Given the description of an element on the screen output the (x, y) to click on. 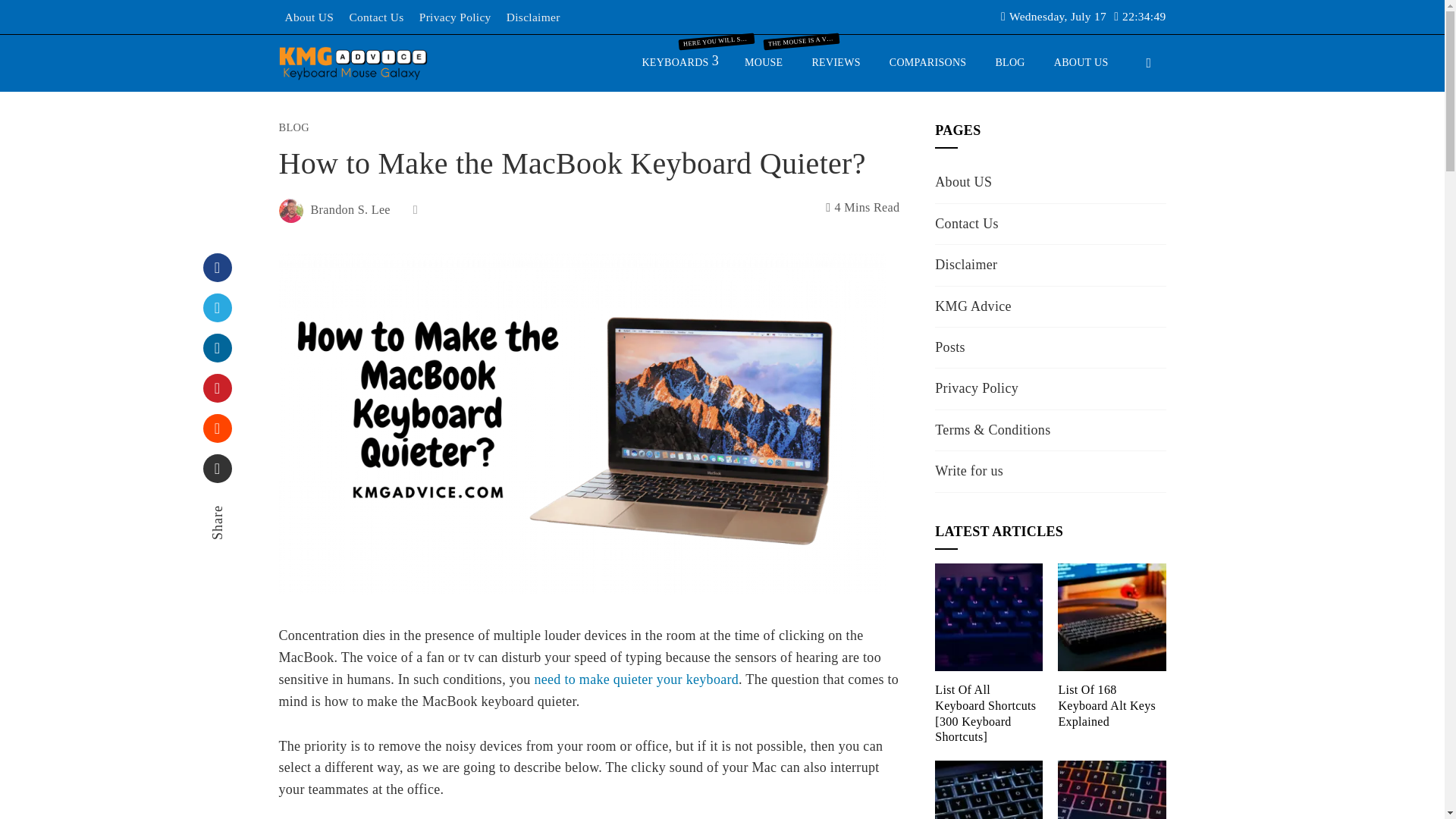
need to make quieter your keyboard (636, 679)
Twitter (217, 307)
Email (217, 468)
About US (309, 17)
ABOUT US (1081, 62)
Stumbleupon (217, 428)
Disclaimer (533, 17)
BLOG (293, 127)
LinkedIn (217, 347)
Privacy Policy (455, 17)
COMPARISONS (927, 62)
Facebook (217, 267)
REVIEWS (835, 62)
